Given the description of an element on the screen output the (x, y) to click on. 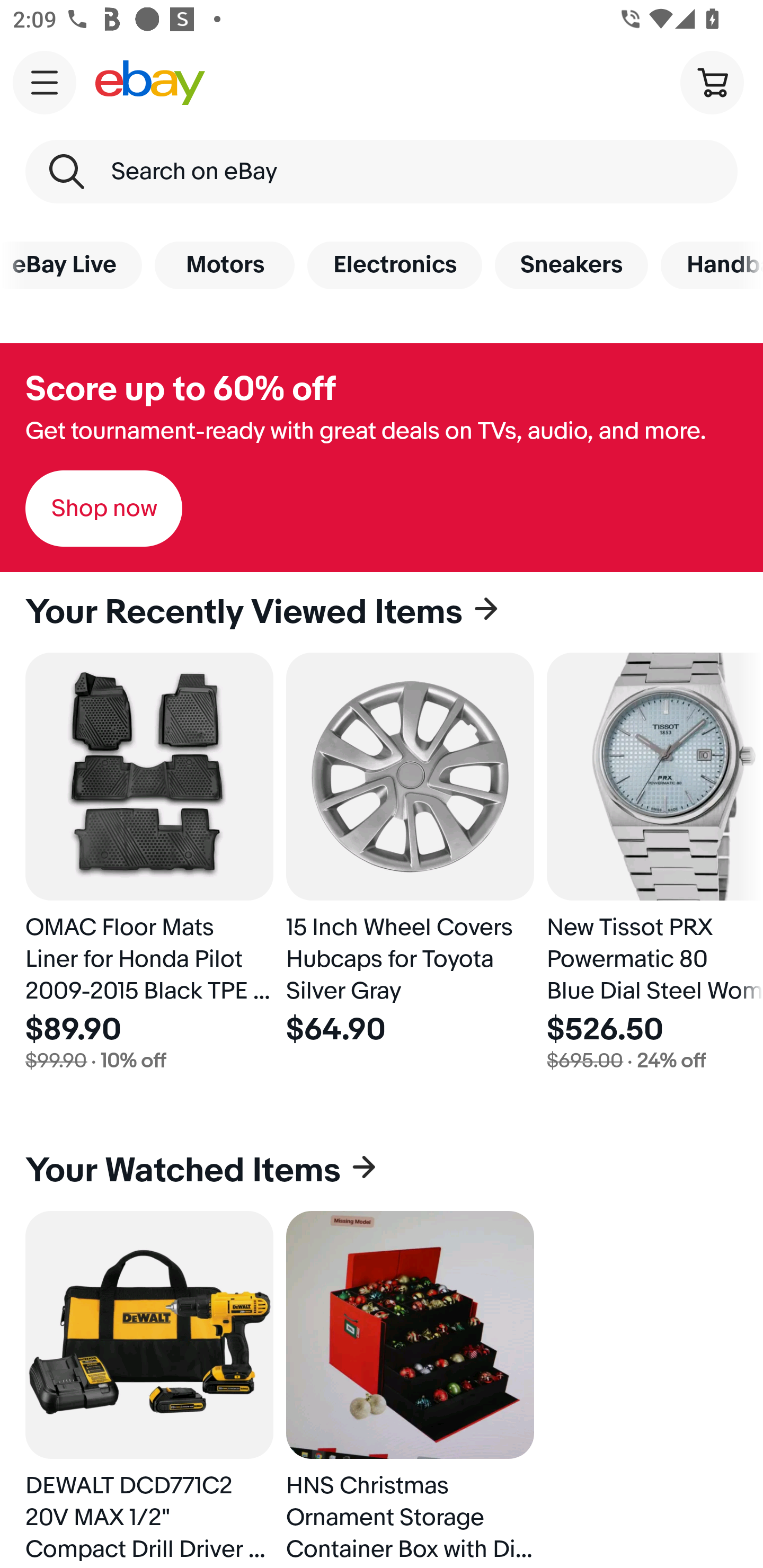
Main navigation, open (44, 82)
Cart button shopping cart (711, 81)
Search on eBay Search Keyword Search on eBay (381, 171)
eBay Live (70, 264)
Motors (224, 264)
Electronics (394, 264)
Sneakers (571, 264)
Score up to 60% off (180, 389)
Shop now (103, 508)
Your Recently Viewed Items   (381, 612)
Your Watched Items   (381, 1170)
